Given the description of an element on the screen output the (x, y) to click on. 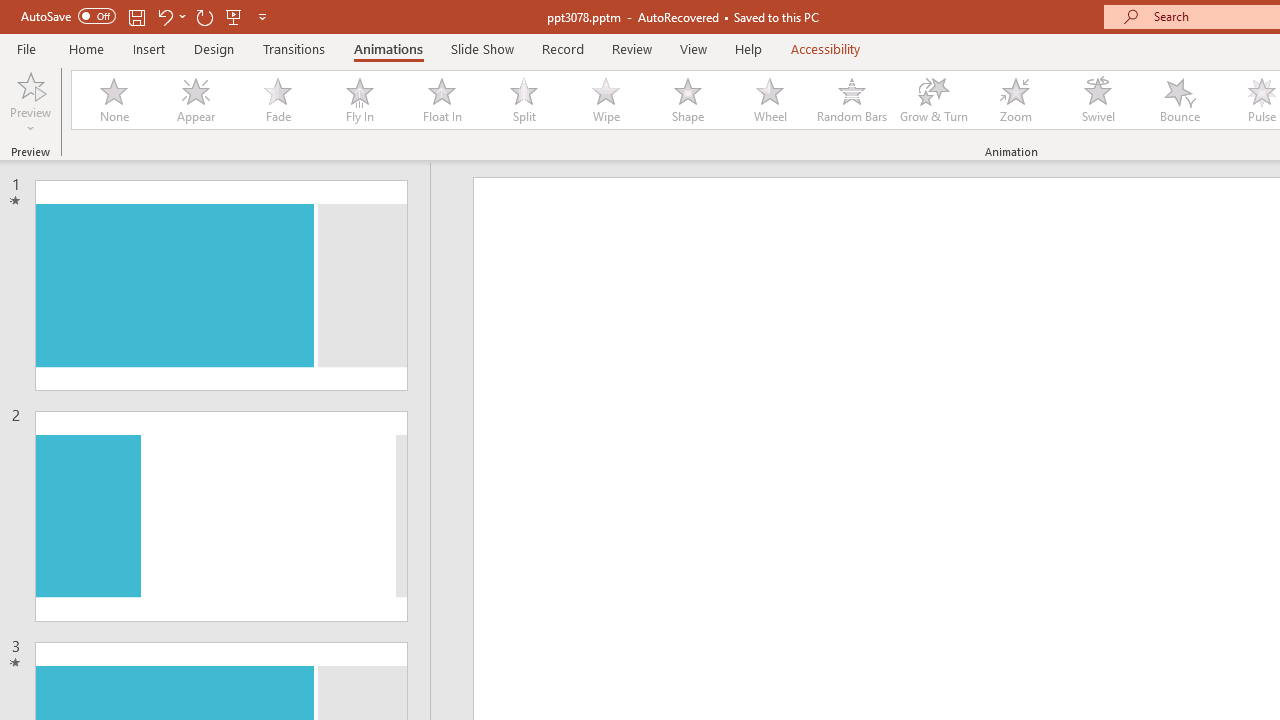
Bounce (1180, 100)
Fly In (359, 100)
Float In (441, 100)
